Given the description of an element on the screen output the (x, y) to click on. 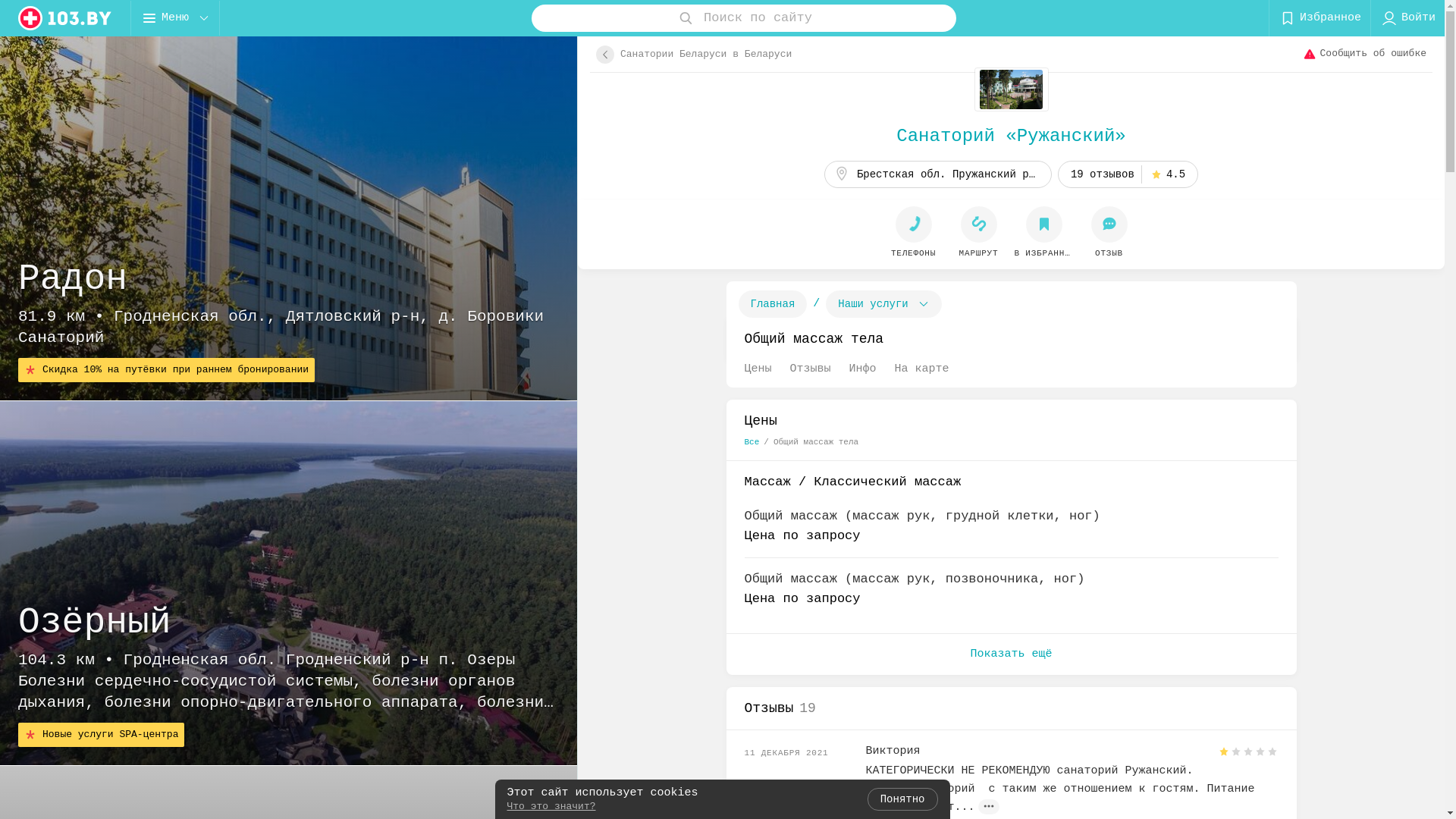
logo Element type: hover (65, 18)
